Given the description of an element on the screen output the (x, y) to click on. 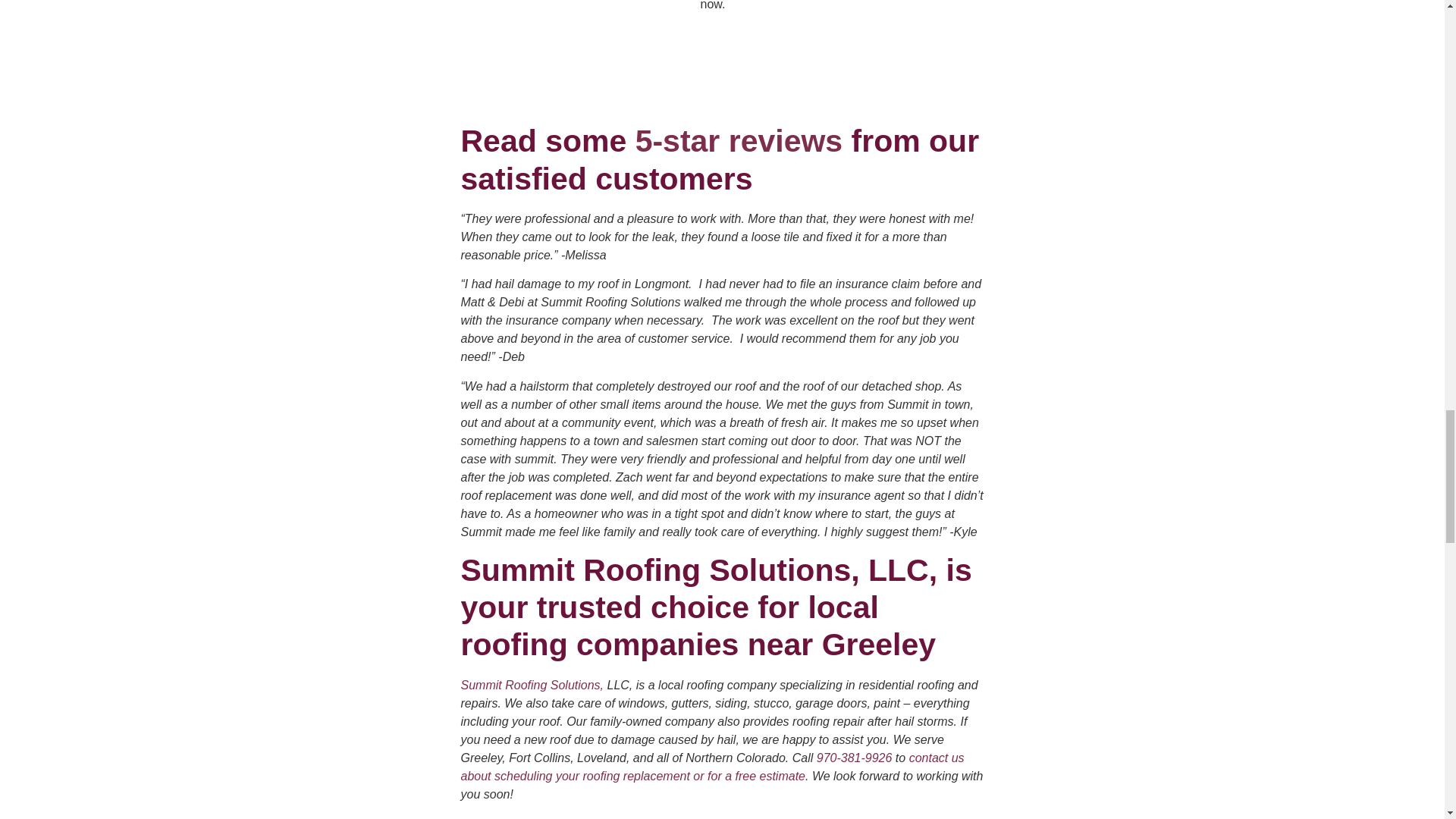
Summit Roofing Solutions, (534, 684)
5-star reviews (738, 140)
970-381-9926 (854, 757)
